Given the description of an element on the screen output the (x, y) to click on. 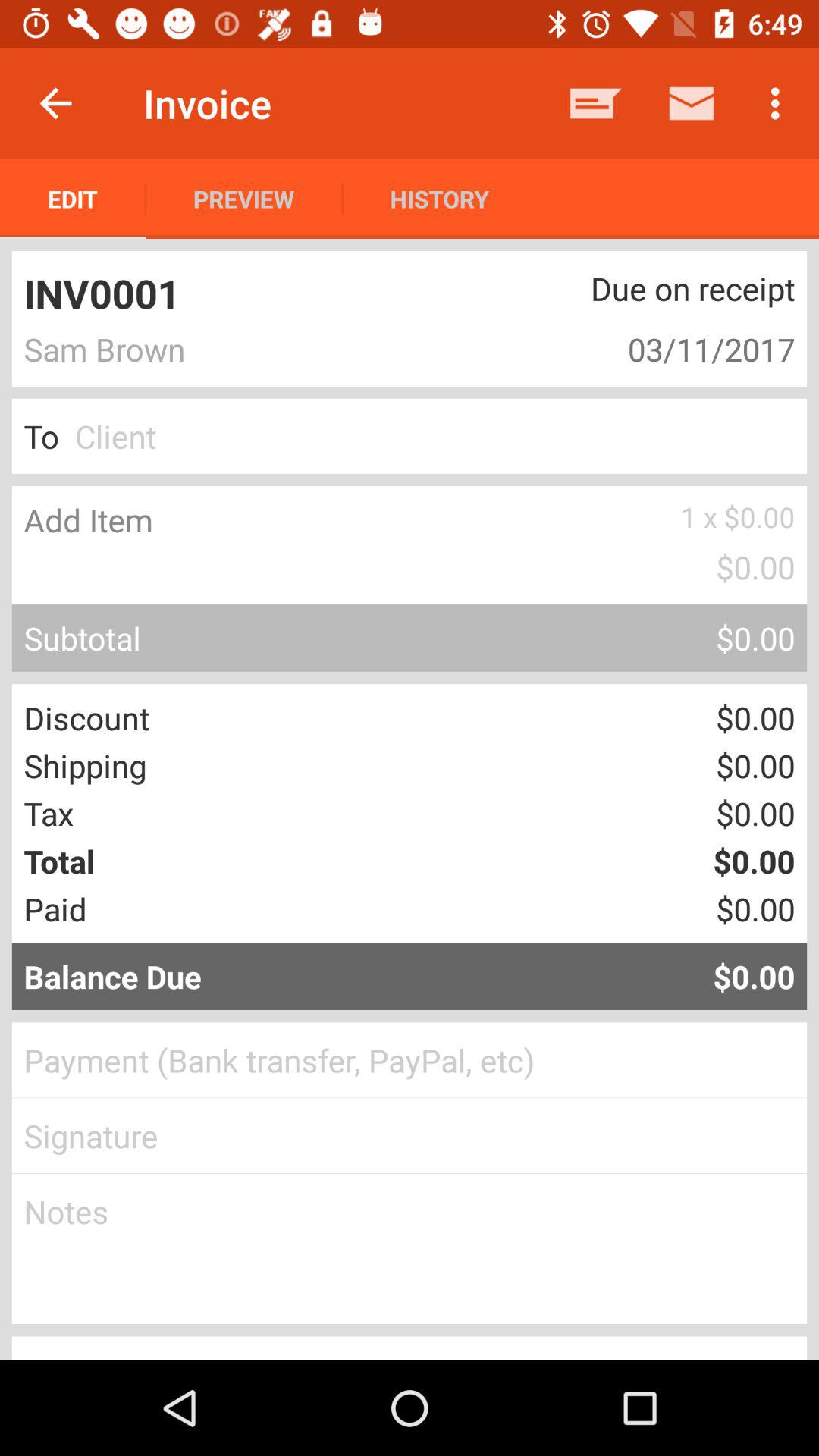
turn on app next to the edit app (243, 198)
